Given the description of an element on the screen output the (x, y) to click on. 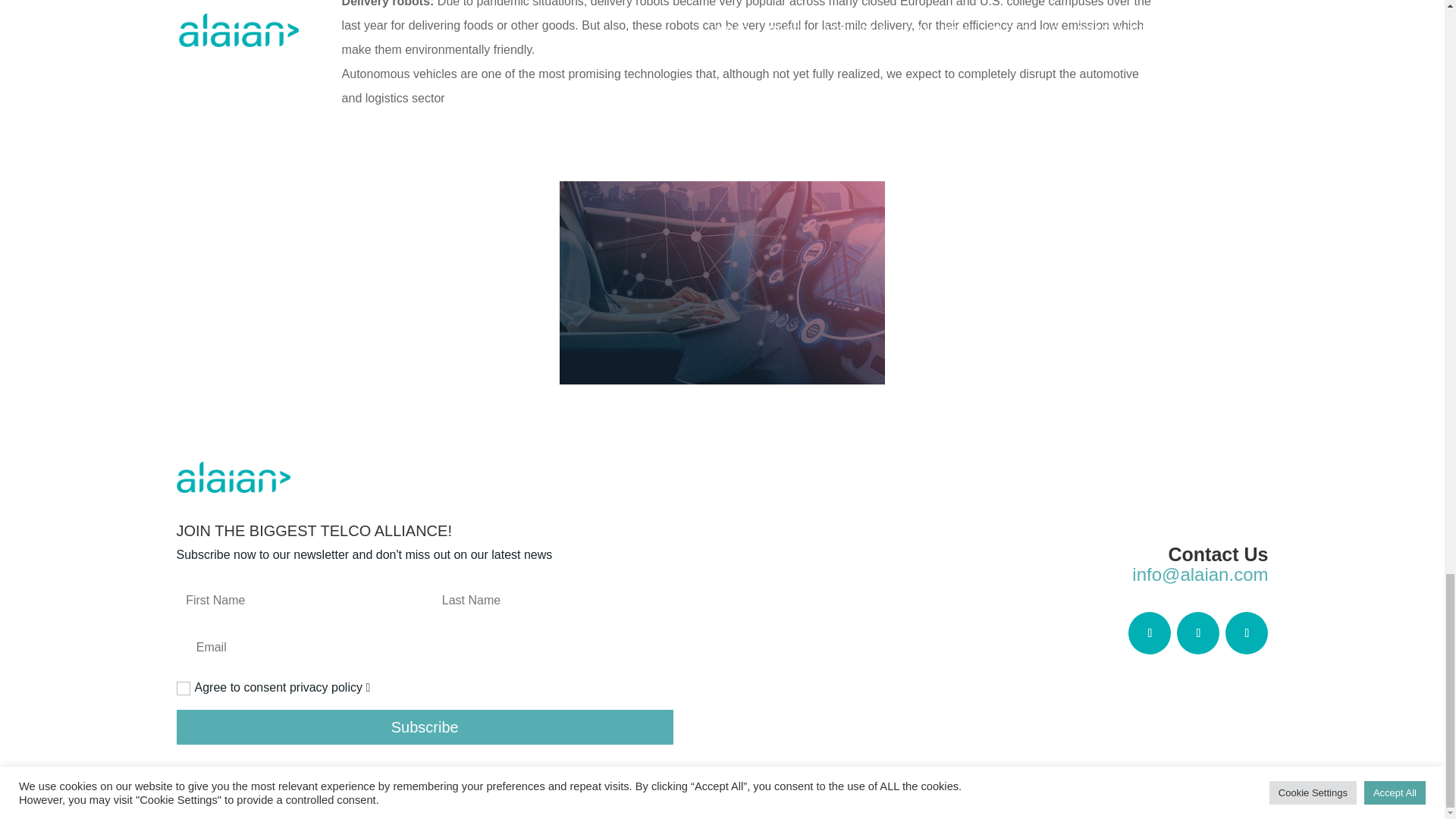
Subscribe (424, 727)
Follow on Youtube (1246, 632)
Cookie Policy (139, 775)
Follow on Twitter (1149, 632)
Follow on LinkedIn (1198, 632)
Privacy Policy (208, 775)
Legal Notice (71, 775)
